Given the description of an element on the screen output the (x, y) to click on. 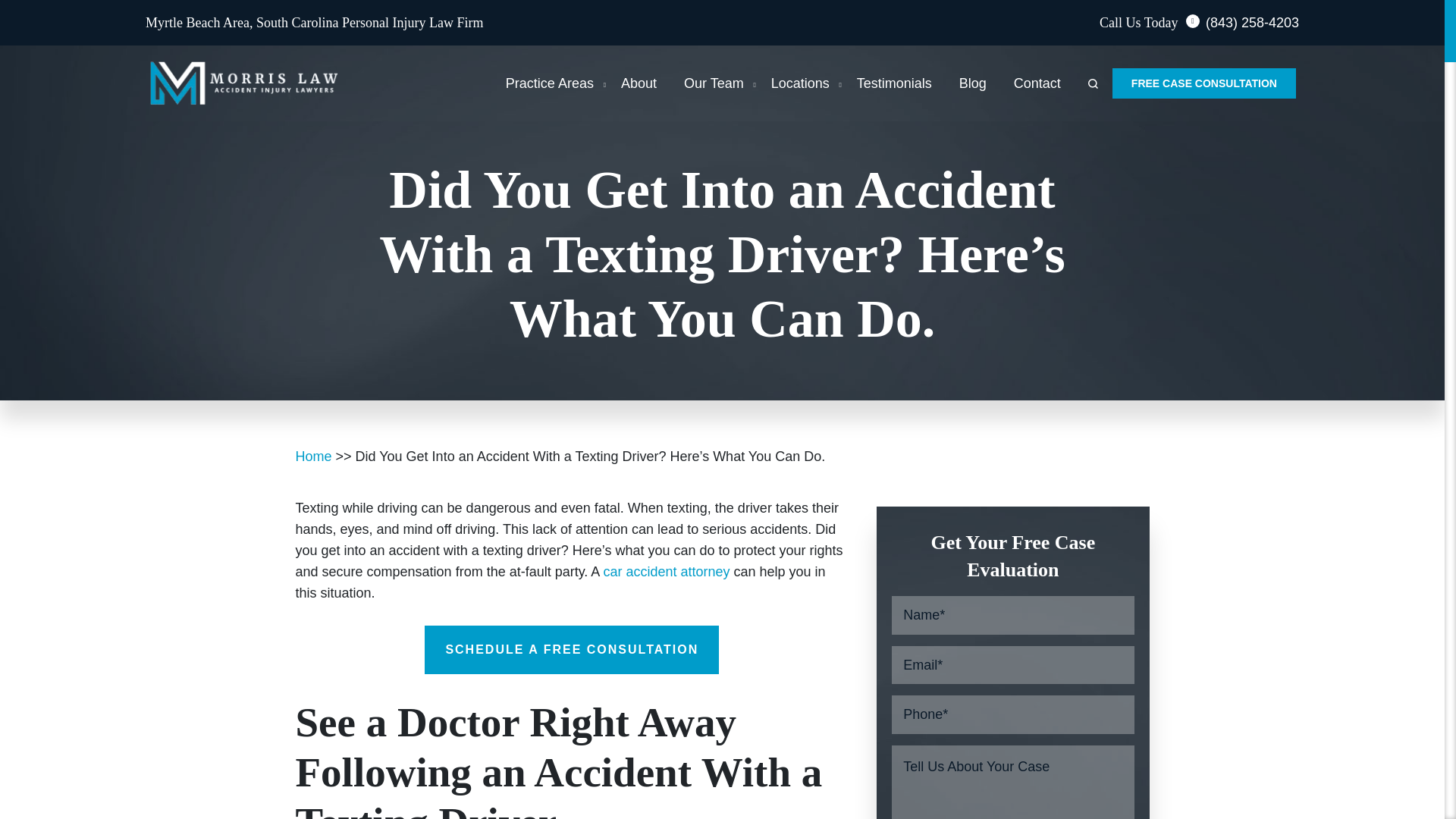
Testimonials (894, 83)
Our Team (714, 83)
Blog (973, 83)
FREE CASE CONSULTATION (1203, 82)
About (638, 83)
Contact (1037, 83)
Practice Areas (549, 83)
Home (313, 456)
Locations (800, 83)
car accident attorney (665, 571)
